Given the description of an element on the screen output the (x, y) to click on. 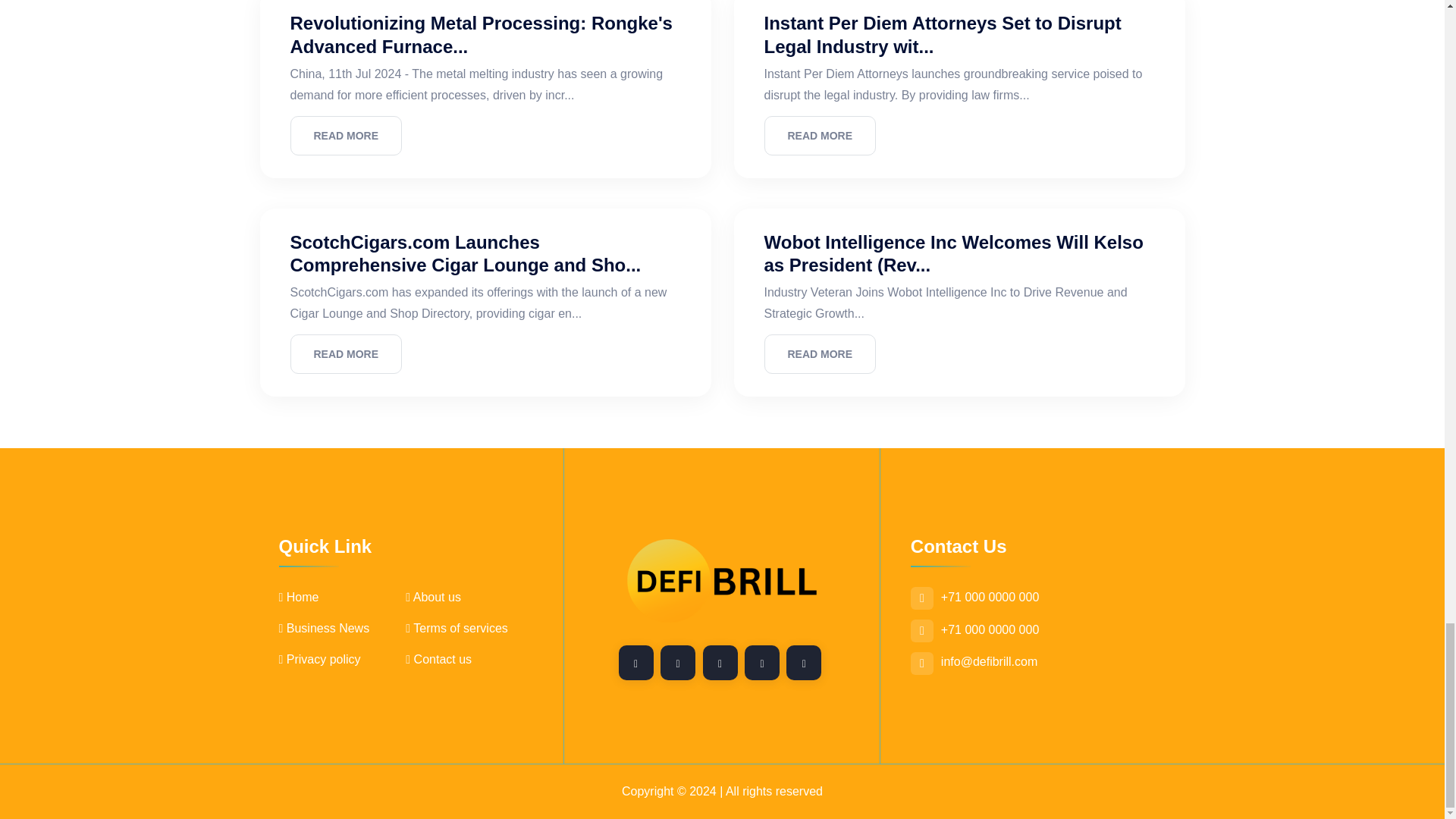
READ MORE (345, 135)
READ MORE (820, 135)
READ MORE (345, 353)
